Given the description of an element on the screen output the (x, y) to click on. 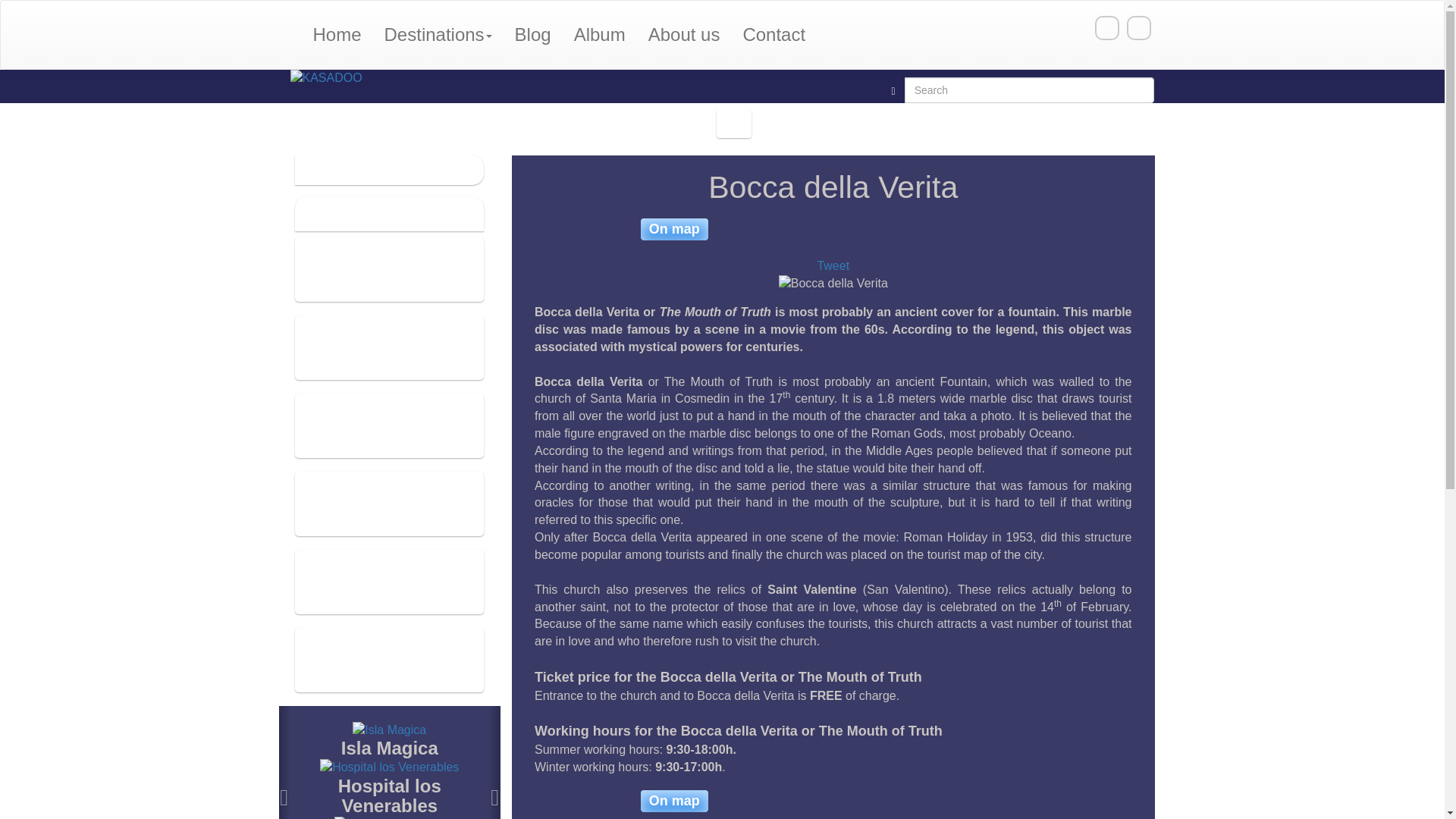
English (1106, 27)
Home (336, 34)
Serbian (1138, 27)
Destinations (437, 34)
